Given the description of an element on the screen output the (x, y) to click on. 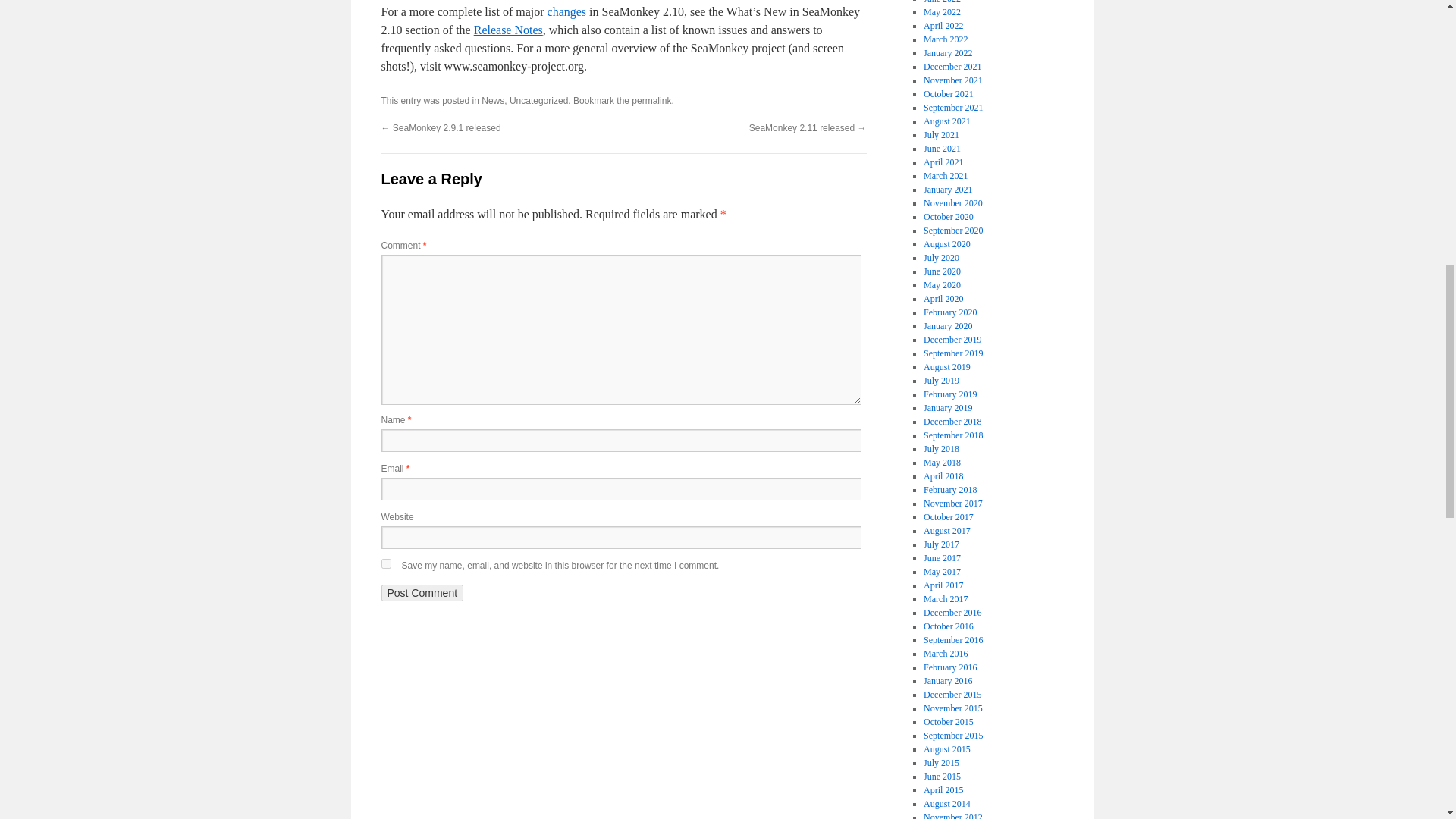
yes (385, 563)
Post Comment (421, 592)
Uncategorized (538, 100)
Post Comment (421, 592)
changes (566, 11)
Permalink to SeaMonkey 2.10 released (651, 100)
News (492, 100)
Release Notes (508, 29)
permalink (651, 100)
